Given the description of an element on the screen output the (x, y) to click on. 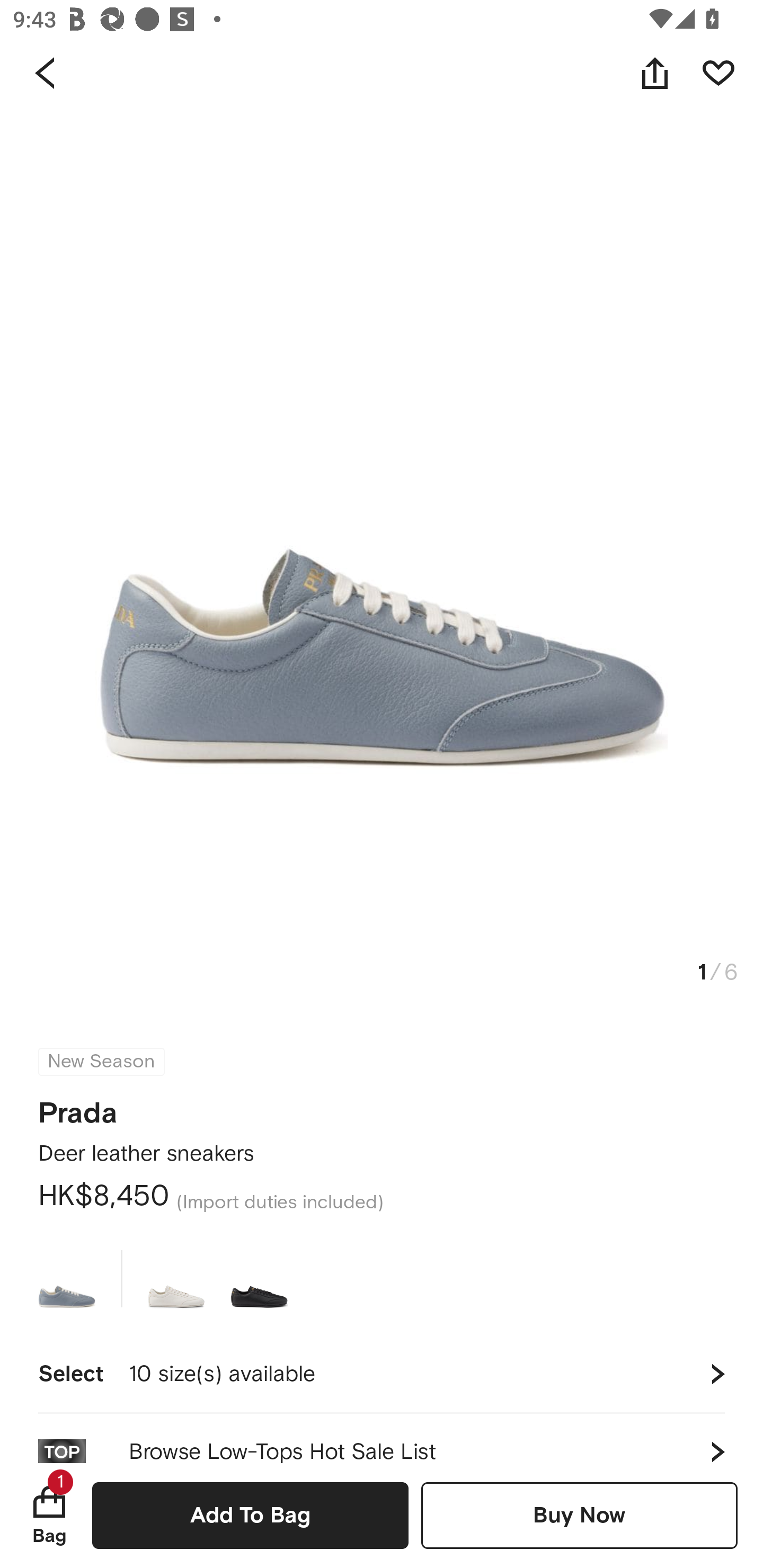
Prada (77, 1107)
Select 10 size(s) available (381, 1373)
Browse Low-Tops Hot Sale List (381, 1438)
Bag 1 (49, 1515)
Add To Bag (250, 1515)
Buy Now (579, 1515)
